Given the description of an element on the screen output the (x, y) to click on. 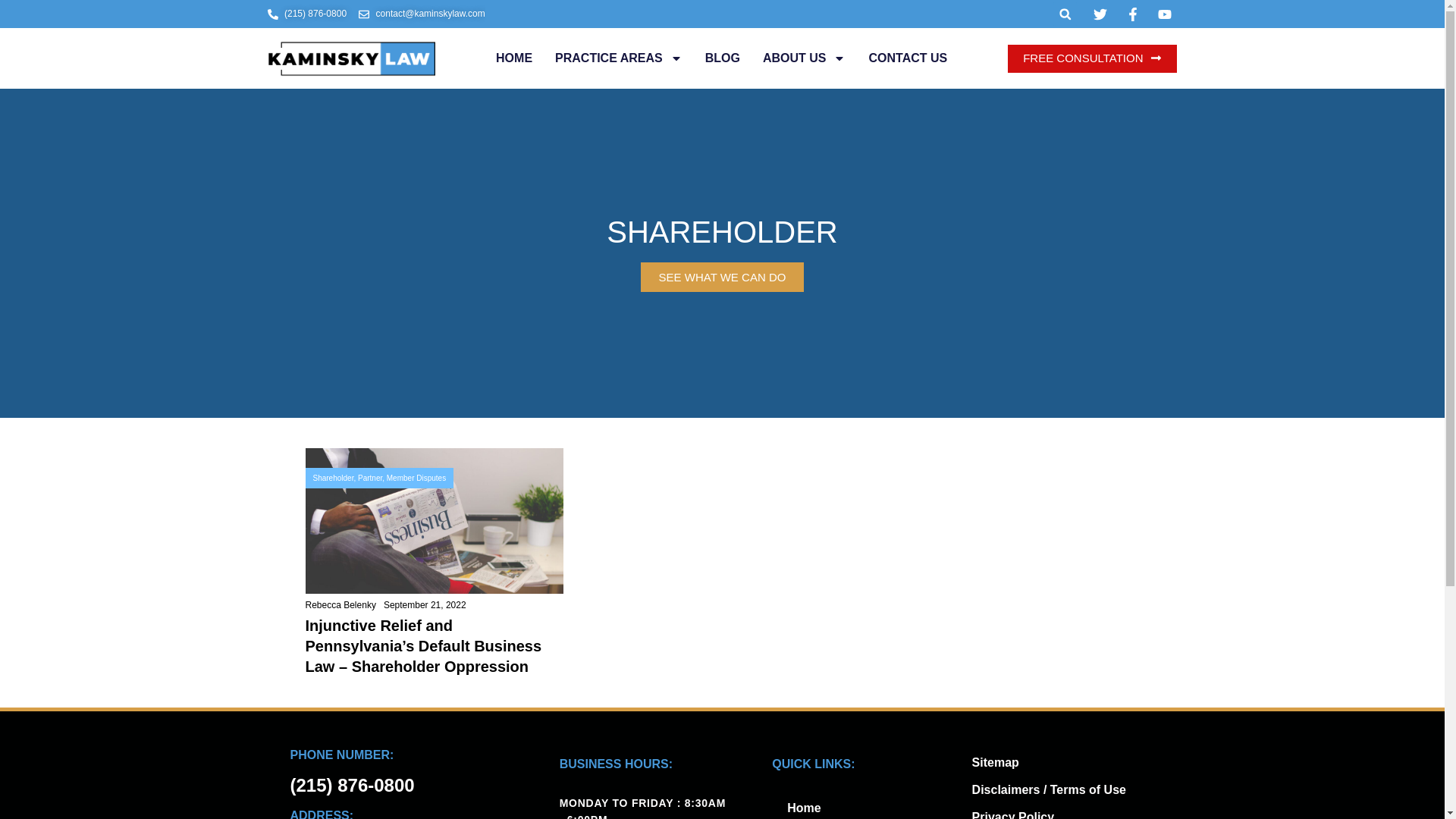
HOME (514, 58)
ABOUT US (803, 58)
PRACTICE AREAS (618, 58)
BLOG (721, 58)
CONTACT US (907, 58)
